Given the description of an element on the screen output the (x, y) to click on. 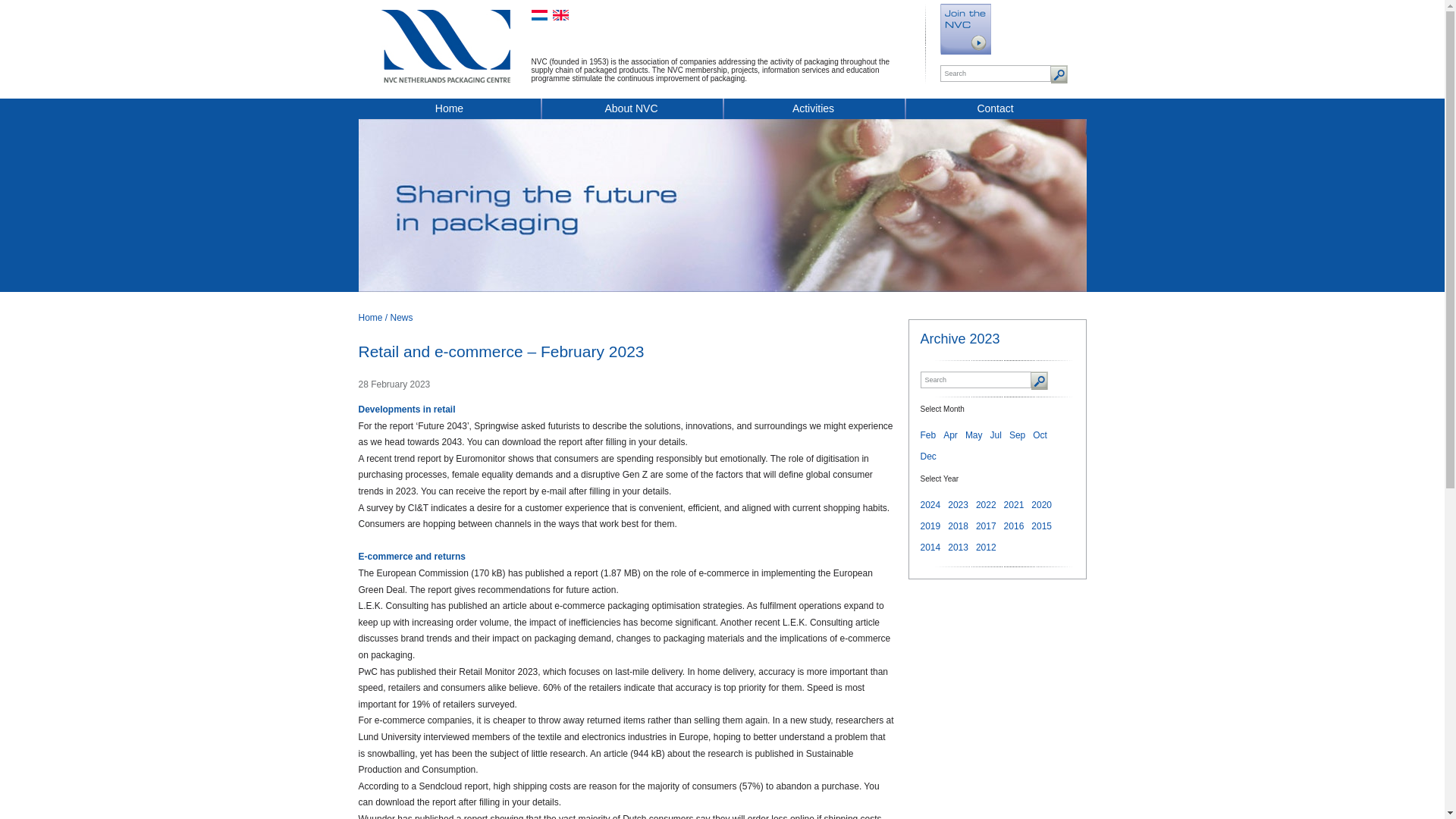
Home (449, 110)
Feb (928, 434)
About NVC (631, 110)
2024 (930, 504)
2022 (985, 504)
May (973, 434)
2023 (957, 504)
Search (975, 379)
Jul (995, 434)
Contact (995, 110)
Activities (813, 110)
Sep (1017, 434)
Home (369, 317)
2021 (1014, 504)
Engels (559, 14)
